Given the description of an element on the screen output the (x, y) to click on. 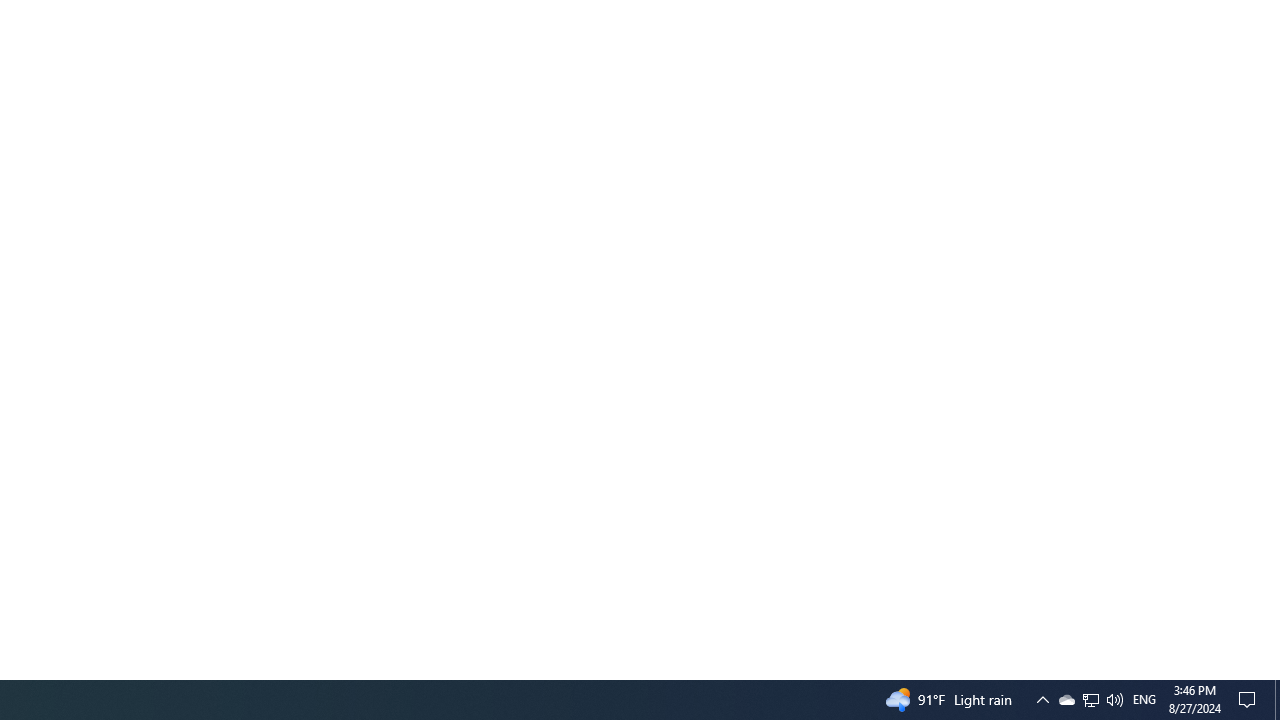
Action Center, No new notifications (1250, 699)
User Promoted Notification Area (1090, 699)
Show desktop (1091, 699)
Q2790: 100% (1277, 699)
Notification Chevron (1114, 699)
Tray Input Indicator - English (United States) (1042, 699)
